Given the description of an element on the screen output the (x, y) to click on. 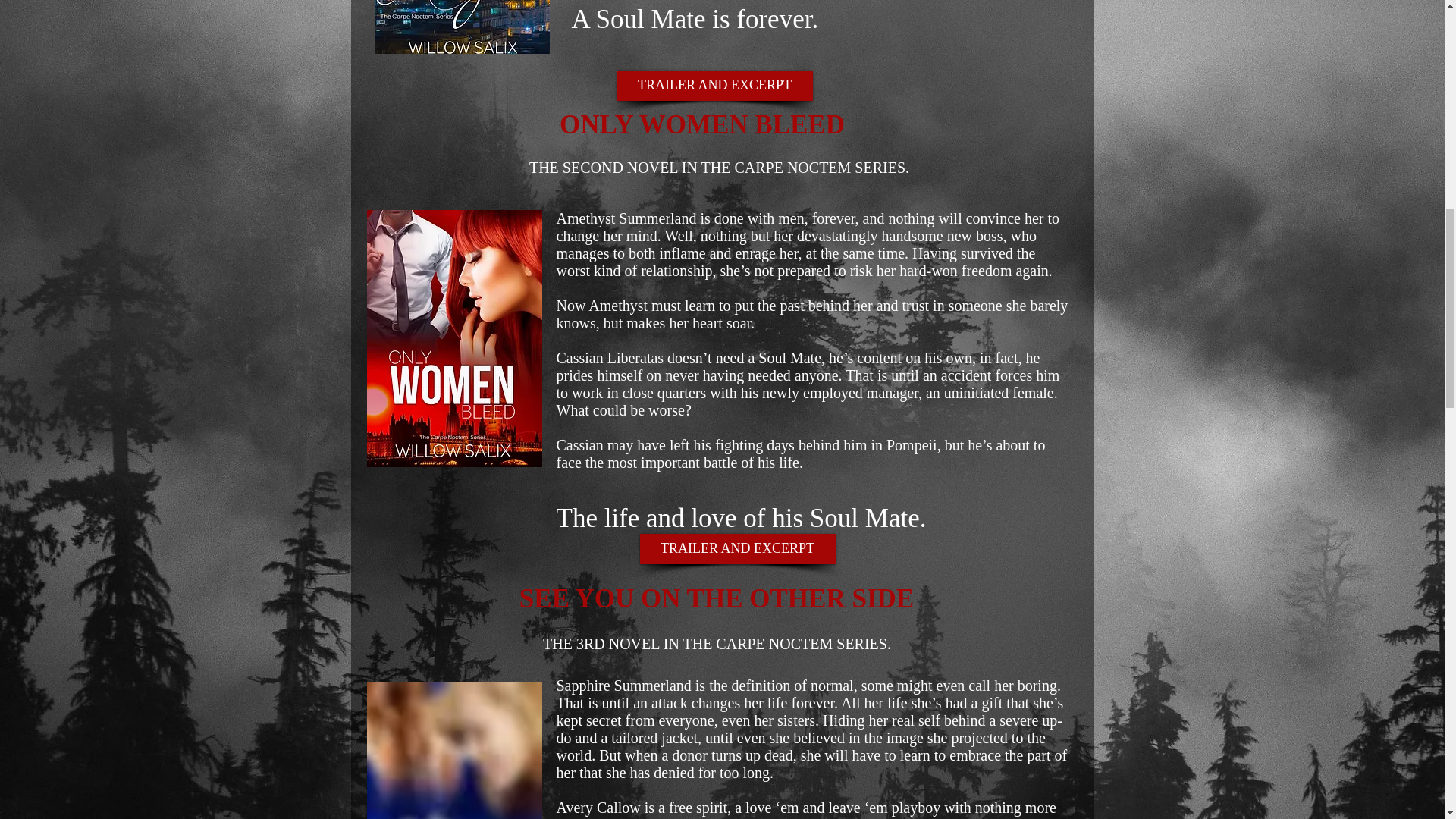
Willow-TMTM-Amazon Cover.jpg (462, 27)
